Given the description of an element on the screen output the (x, y) to click on. 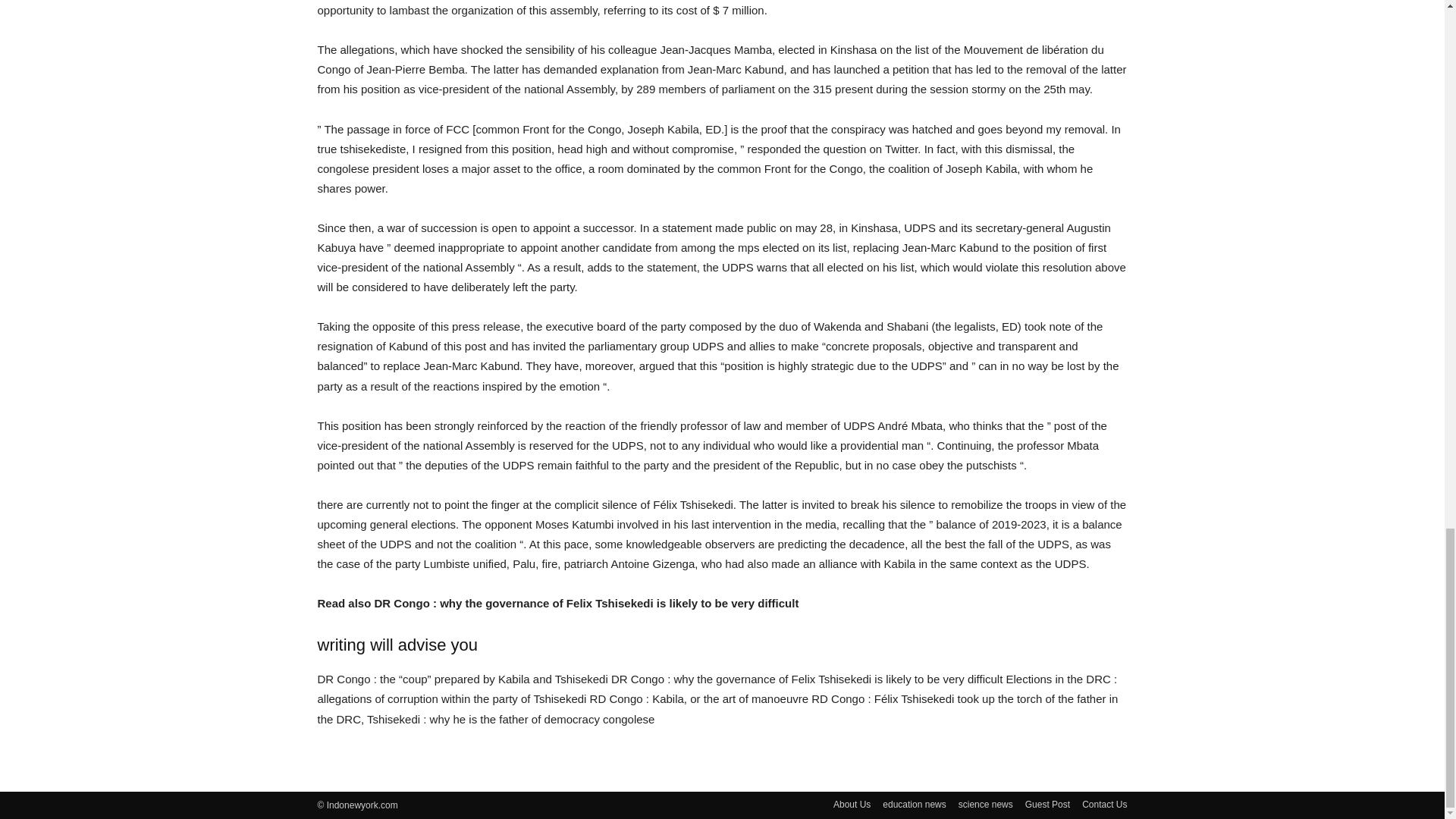
Contact Us (1103, 804)
education news (913, 804)
science news (985, 804)
About Us (851, 804)
Guest Post (1047, 804)
